Given the description of an element on the screen output the (x, y) to click on. 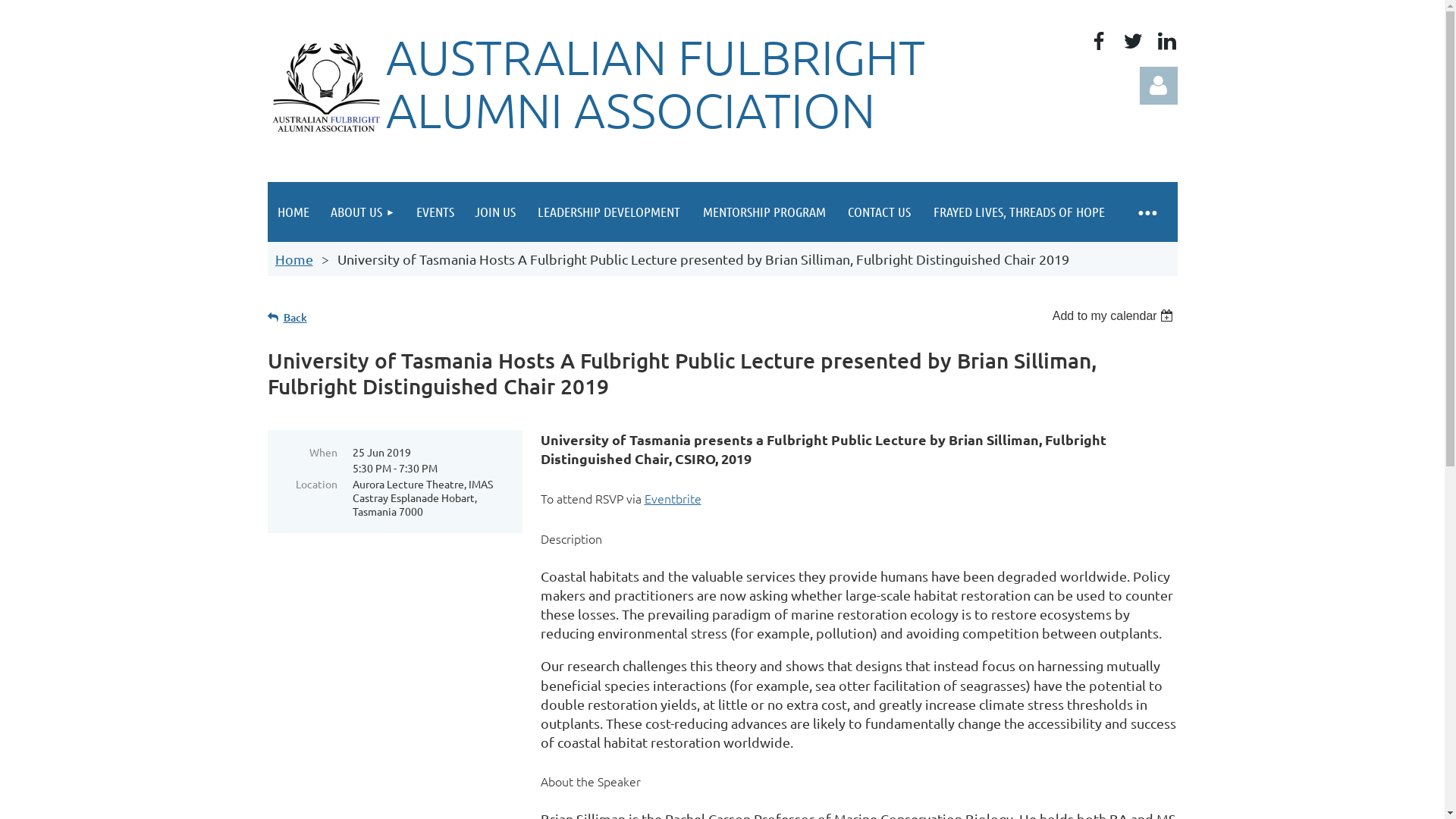
Twitter Element type: hover (1132, 40)
HOME Element type: text (292, 211)
Log in Element type: text (1157, 85)
LinkedIn Element type: hover (1165, 40)
MENTORSHIP PROGRAM Element type: text (764, 211)
Facebook Element type: hover (1097, 40)
JOIN US Element type: text (495, 211)
Home Element type: text (293, 258)
FRAYED LIVES, THREADS OF HOPE Element type: text (1018, 211)
CONTACT US Element type: text (879, 211)
Eventbrite Element type: text (672, 497)
EVENTS Element type: text (434, 211)
ABOUT US Element type: text (362, 211)
LEADERSHIP DEVELOPMENT Element type: text (608, 211)
Back Element type: text (286, 317)
